Given the description of an element on the screen output the (x, y) to click on. 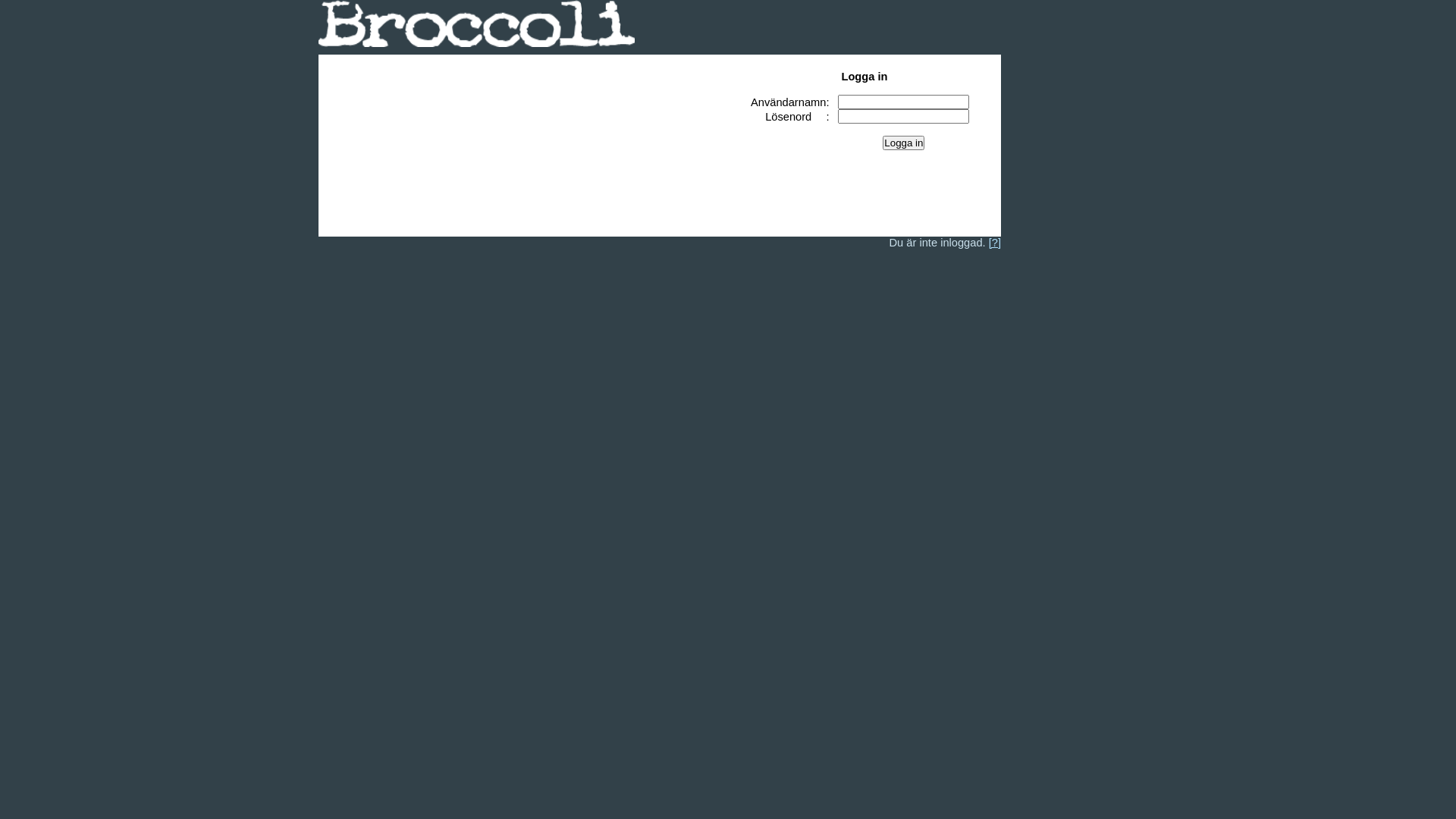
Broccoli start page Element type: hover (476, 50)
Logga in Element type: text (903, 142)
[?] Element type: text (994, 242)
